Given the description of an element on the screen output the (x, y) to click on. 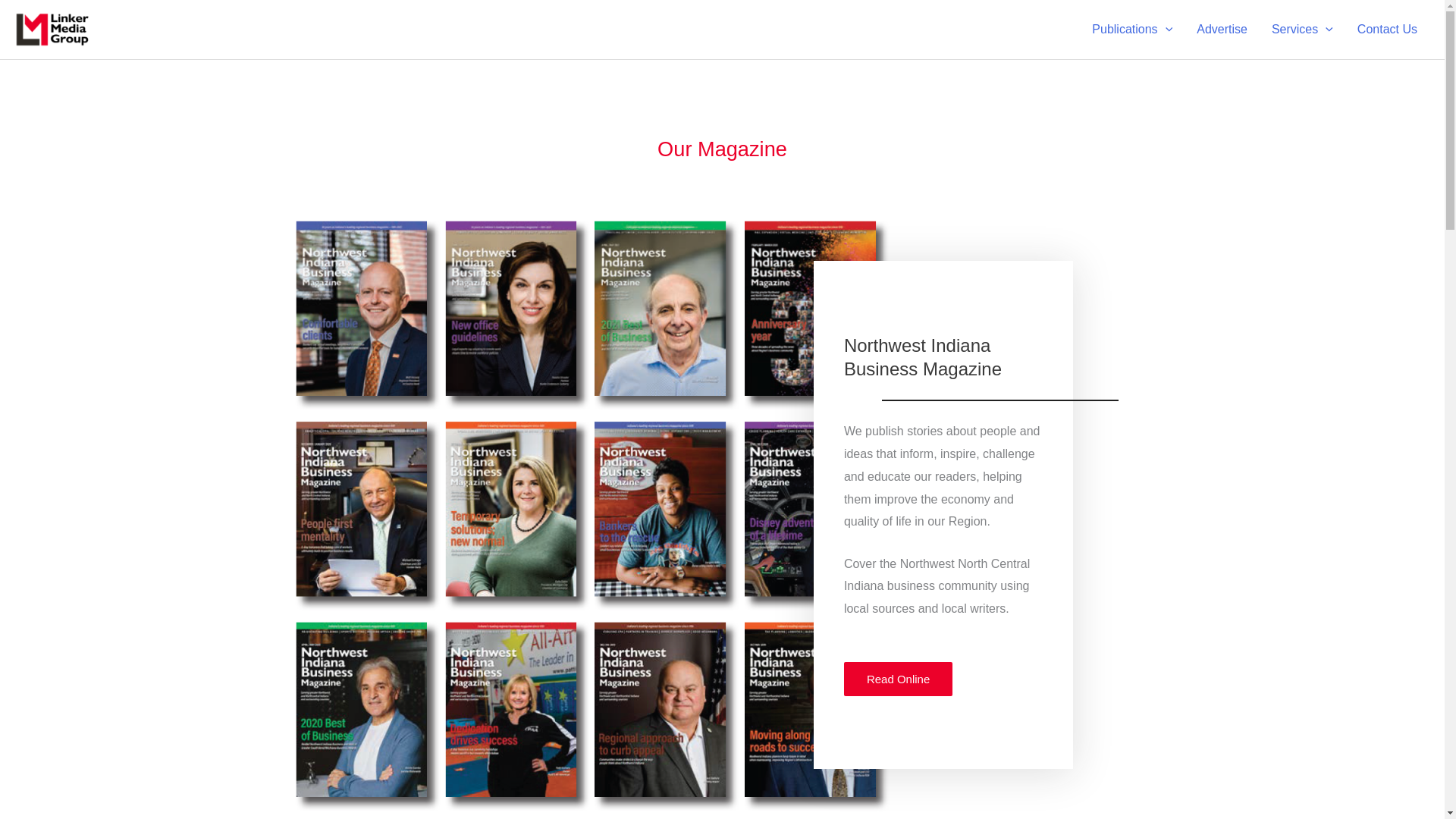
Read Online (898, 678)
Advertise (1222, 29)
Contact Us (1387, 29)
Services (1302, 29)
Publications (1132, 29)
